Given the description of an element on the screen output the (x, y) to click on. 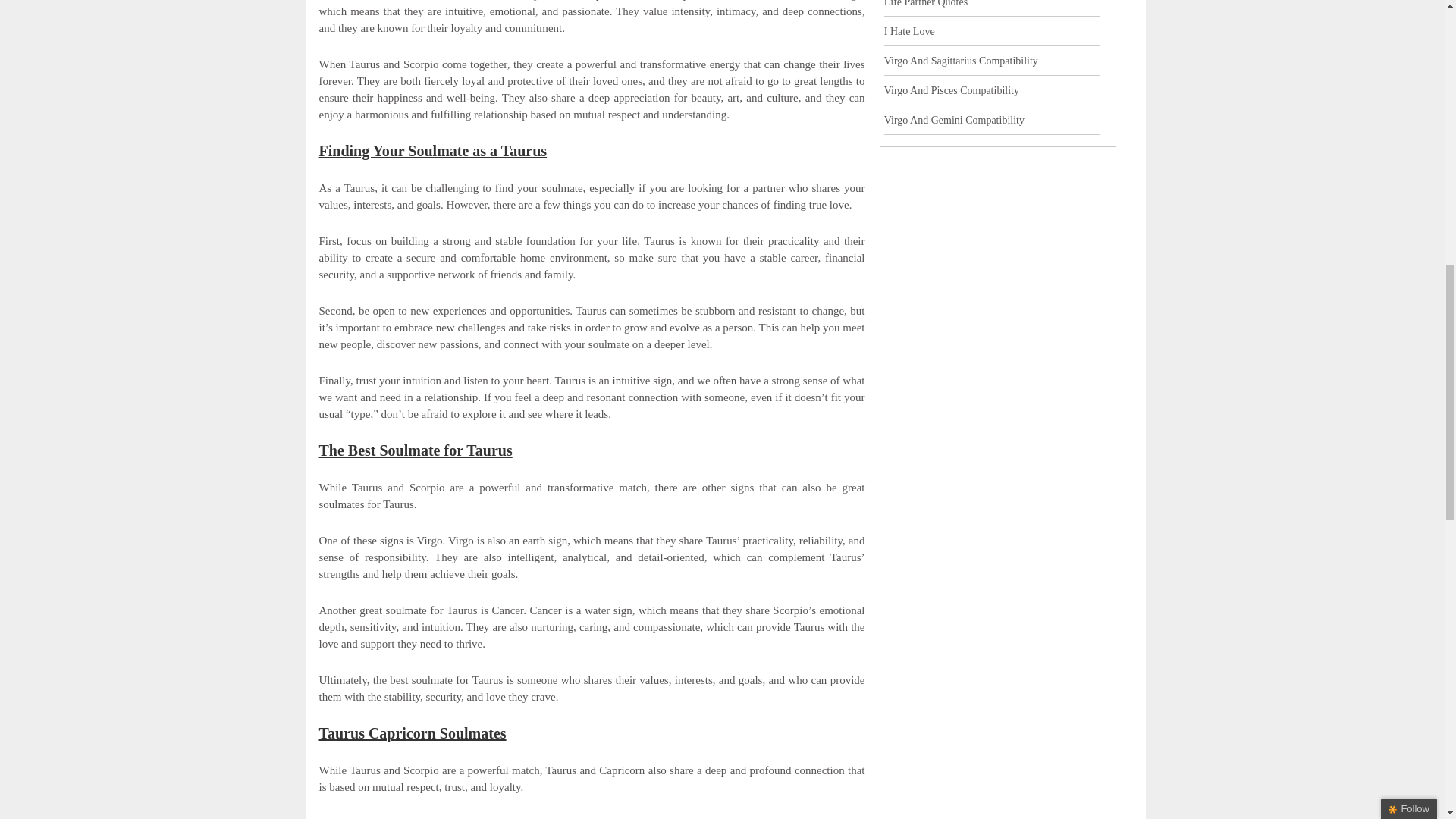
Enter email address (1348, 110)
Sign me up! (1349, 139)
